Given the description of an element on the screen output the (x, y) to click on. 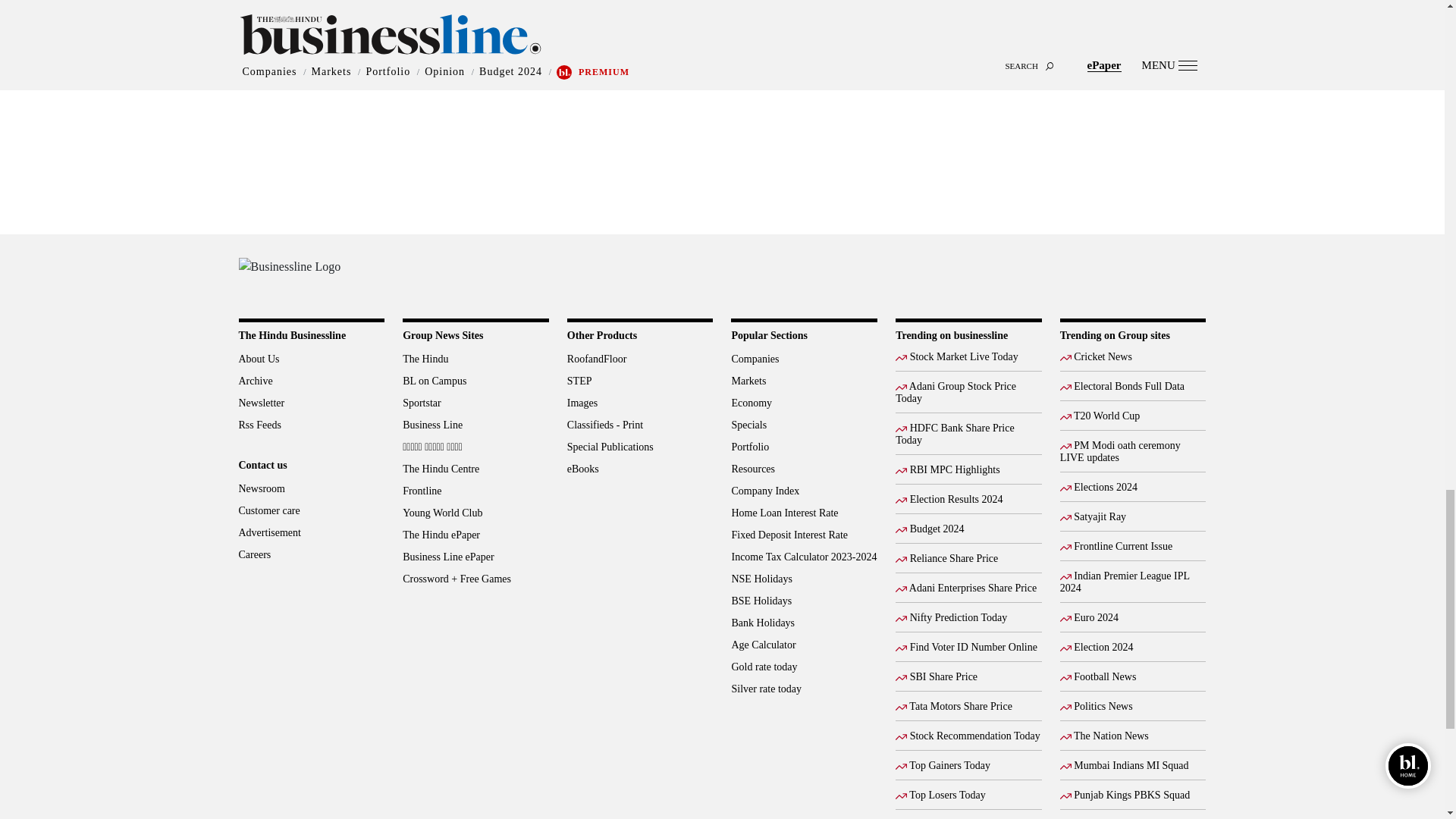
Google Play (1130, 274)
